Given the description of an element on the screen output the (x, y) to click on. 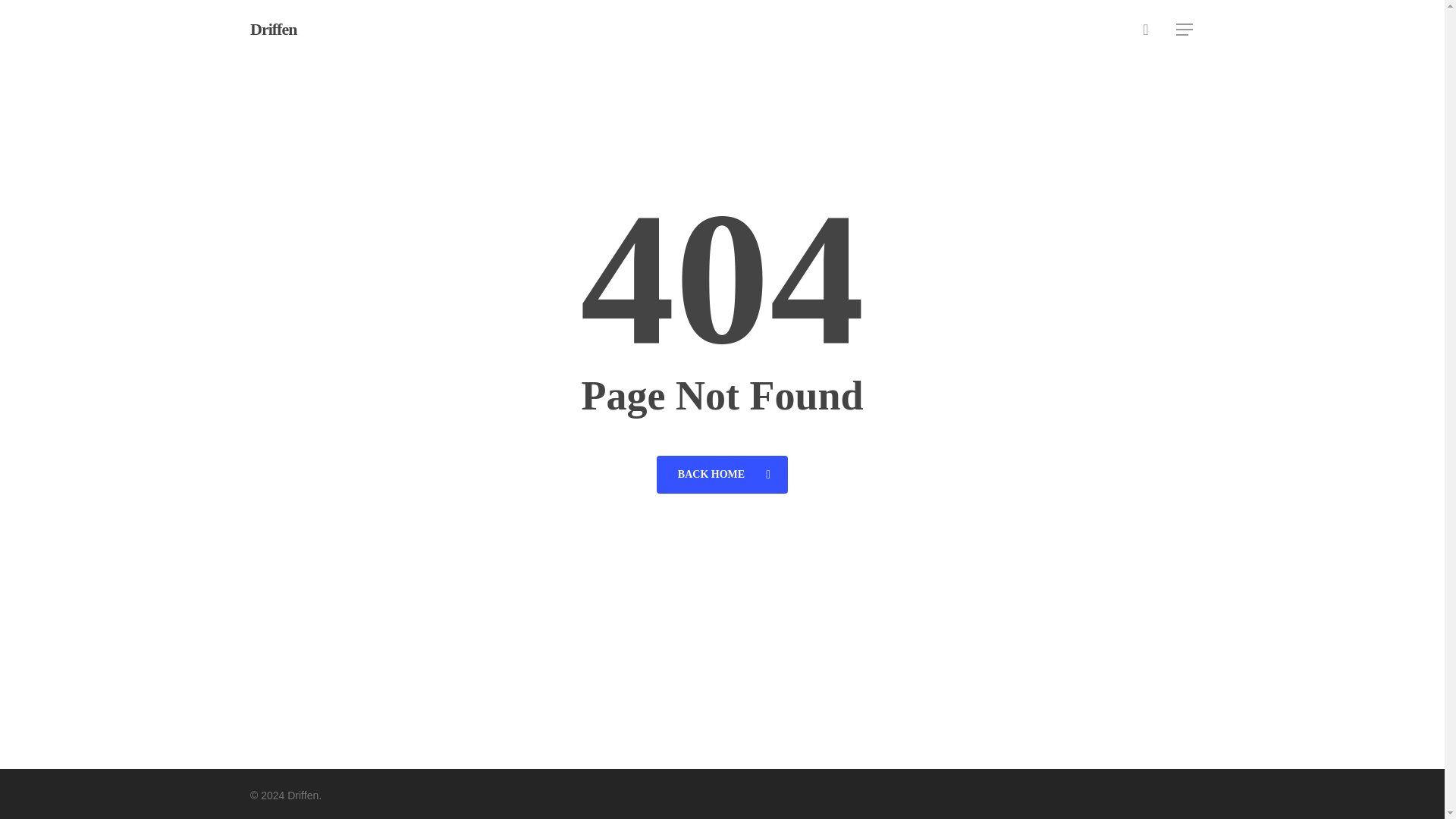
BACK HOME (721, 474)
search (1145, 28)
Driffen (273, 29)
Menu (1184, 28)
